Given the description of an element on the screen output the (x, y) to click on. 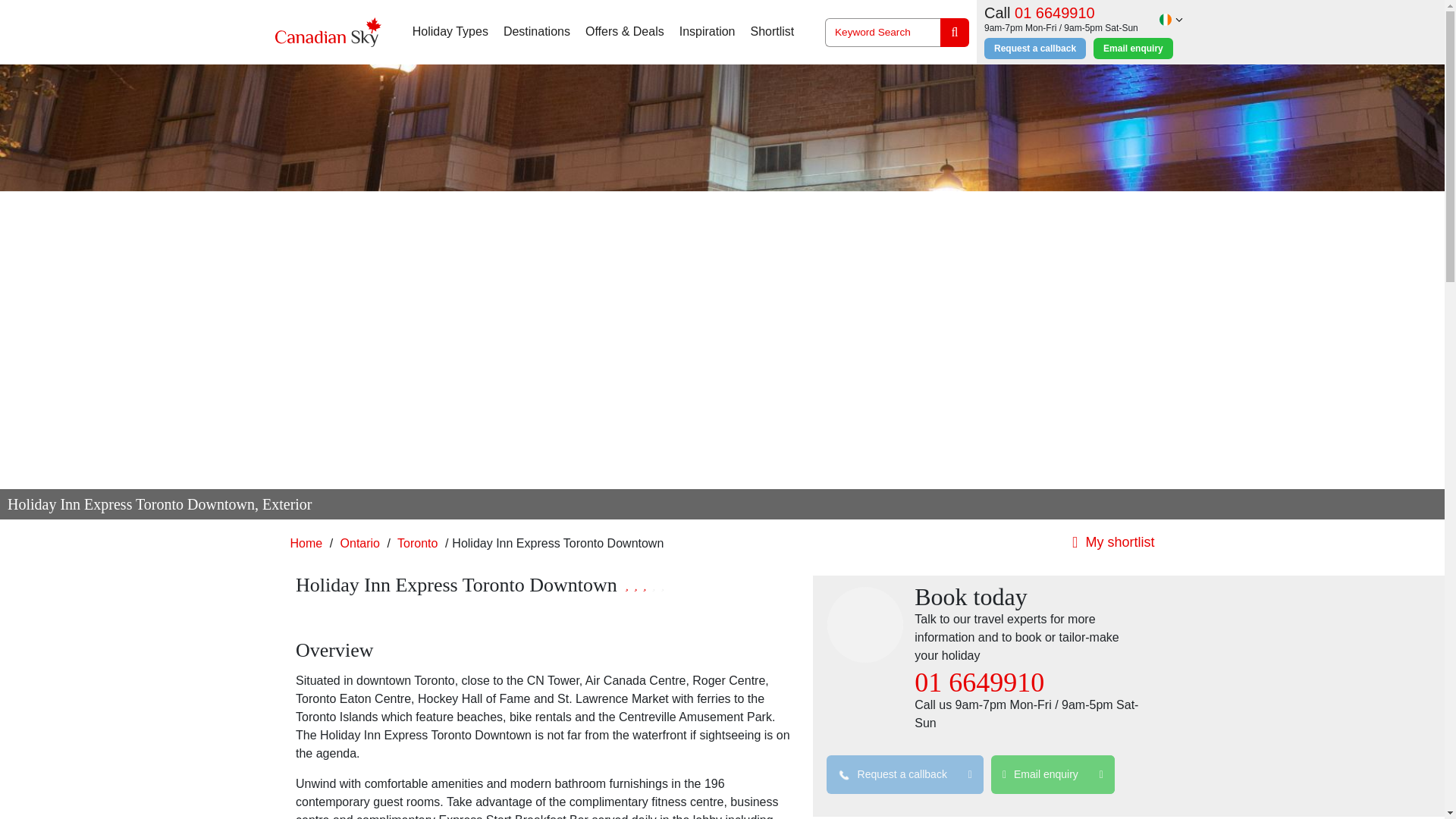
Holiday Types (450, 32)
Destinations (537, 32)
Canadian Sky (328, 32)
